Given the description of an element on the screen output the (x, y) to click on. 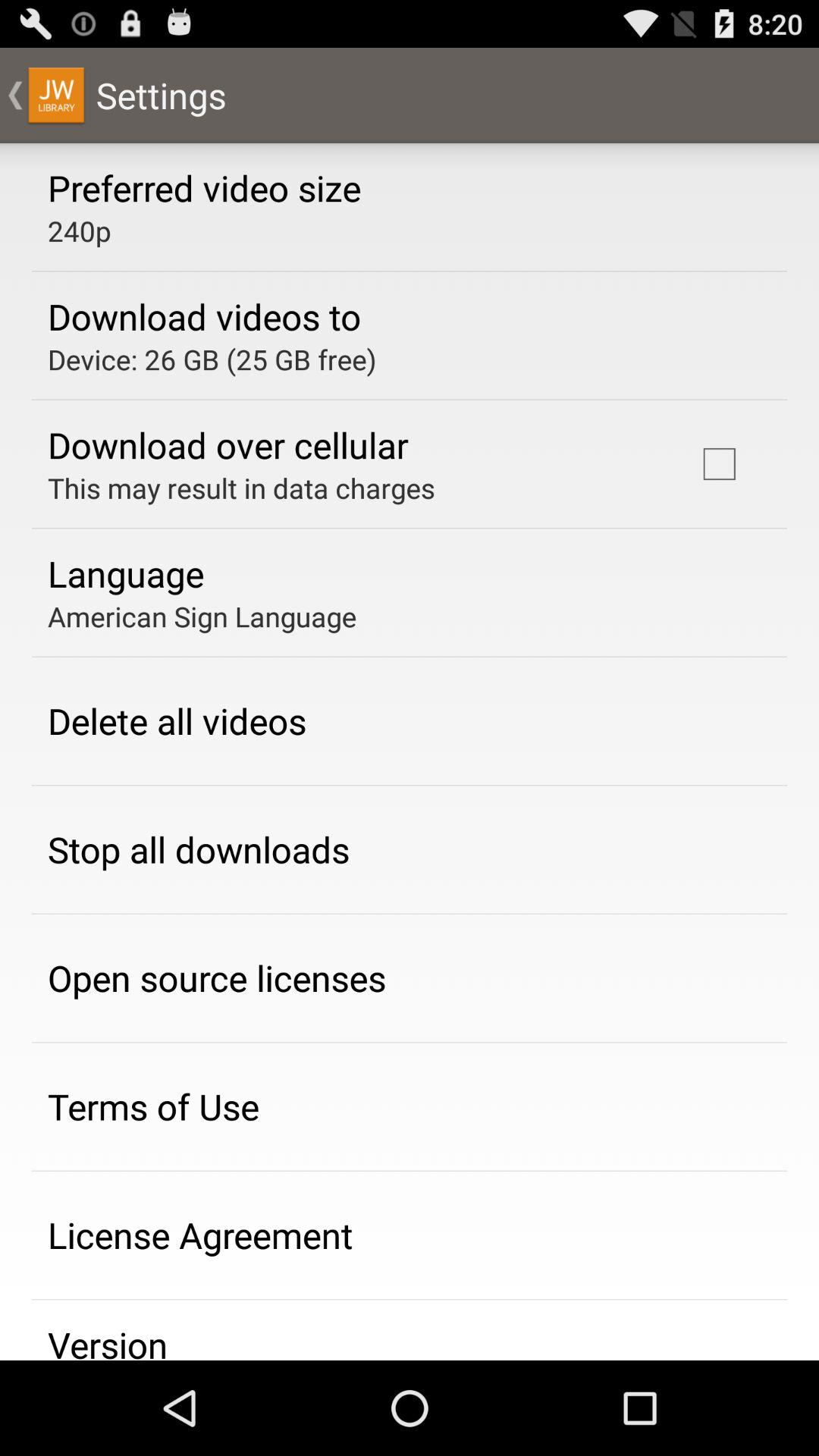
open the stop all downloads item (198, 849)
